Given the description of an element on the screen output the (x, y) to click on. 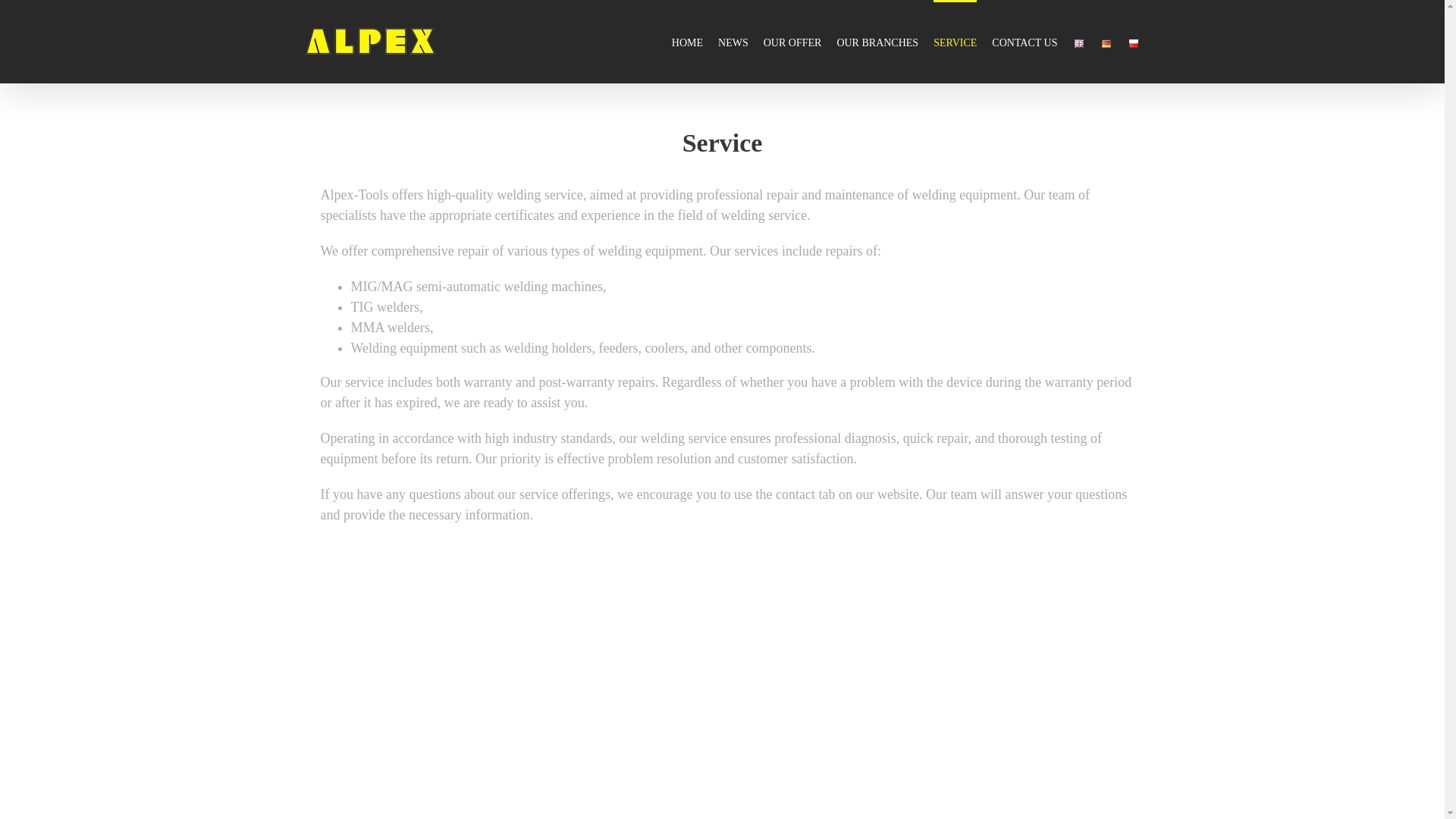
OUR BRANCHES (876, 41)
